Given the description of an element on the screen output the (x, y) to click on. 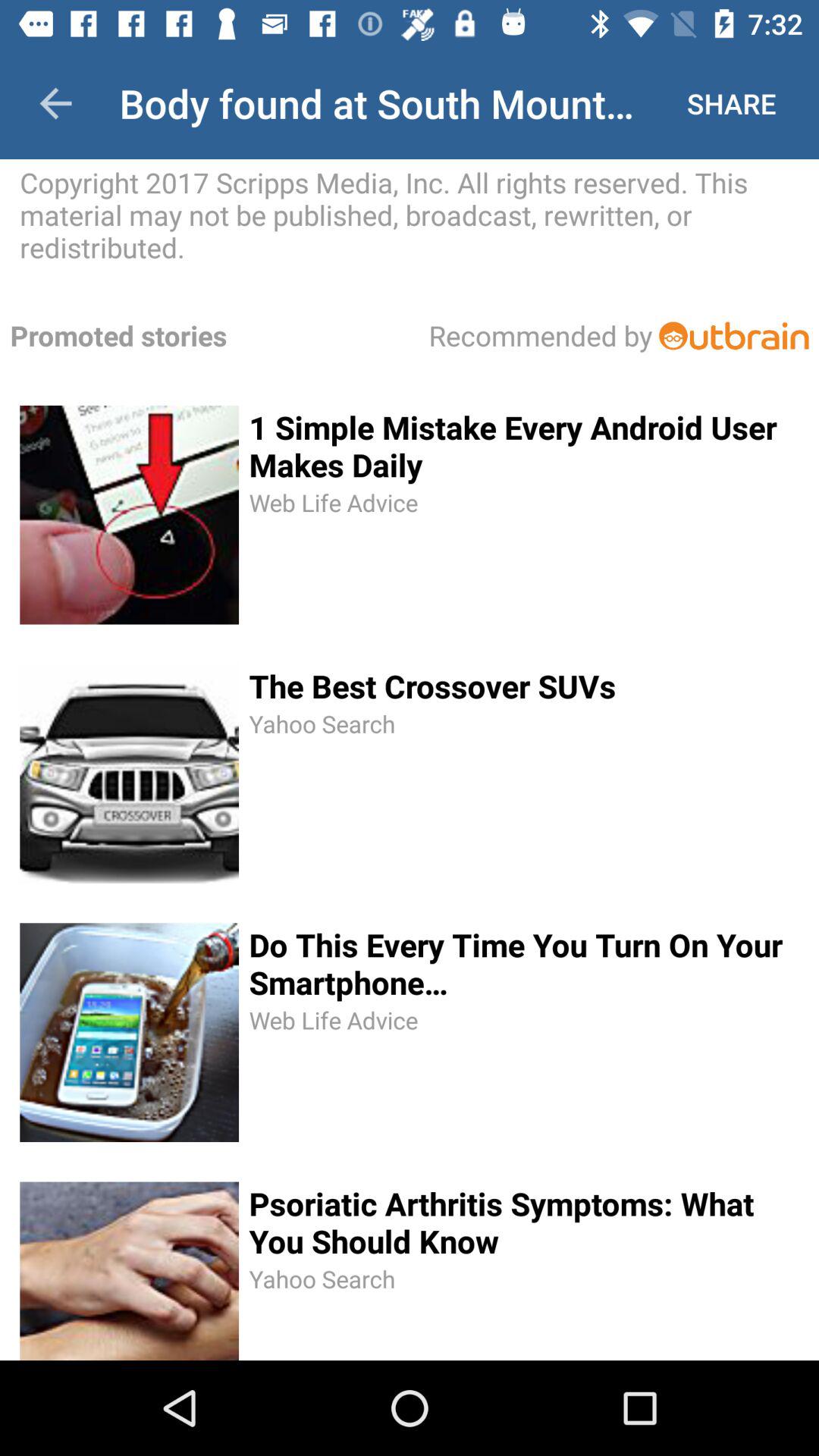
turn off item above copyright 2017 scripps item (731, 103)
